Given the description of an element on the screen output the (x, y) to click on. 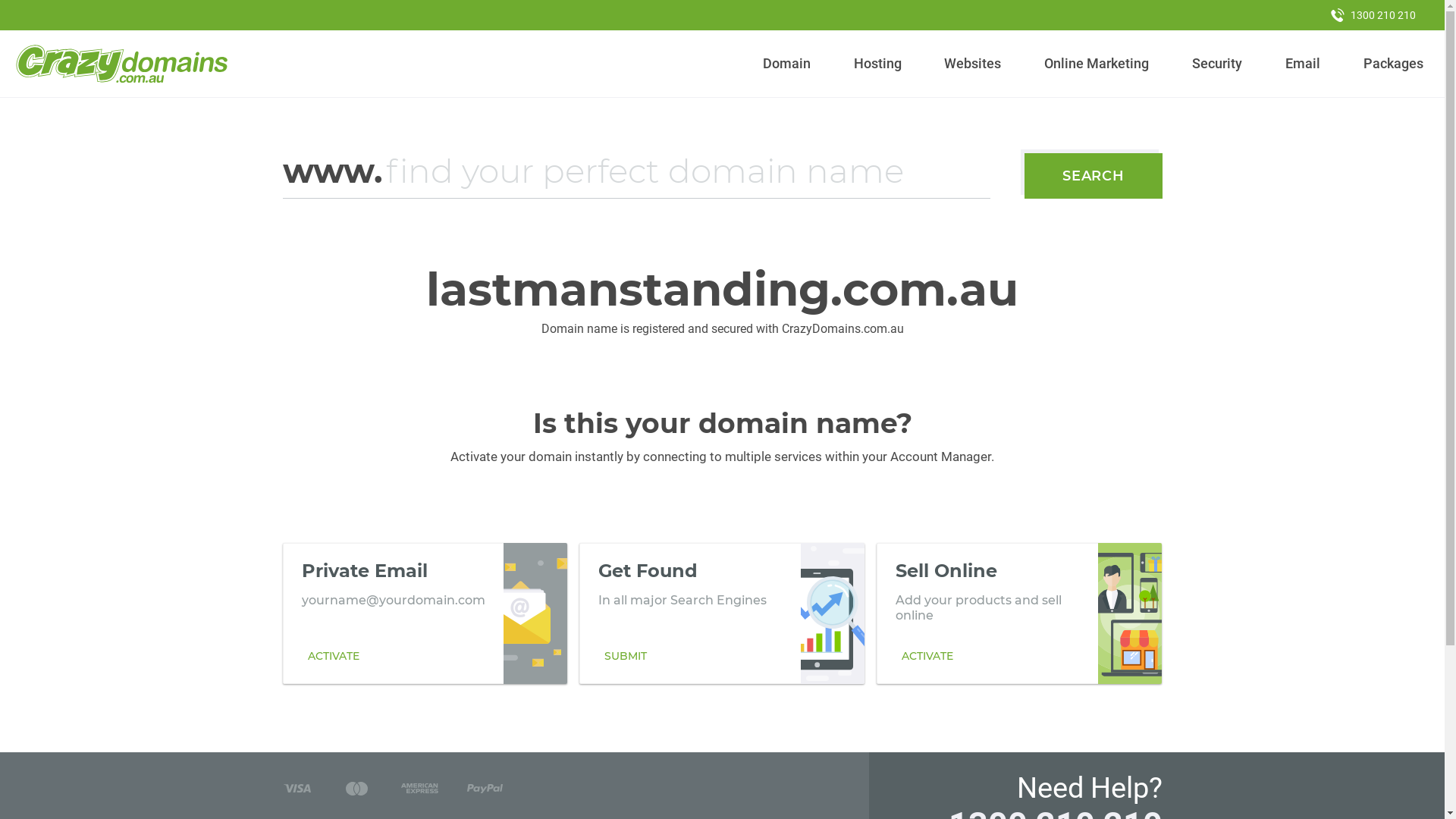
Private Email
yourname@yourdomain.com
ACTIVATE Element type: text (424, 613)
Sell Online
Add your products and sell online
ACTIVATE Element type: text (1018, 613)
Get Found
In all major Search Engines
SUBMIT Element type: text (721, 613)
Domain Element type: text (786, 63)
SEARCH Element type: text (1092, 175)
1300 210 210 Element type: text (1373, 15)
Online Marketing Element type: text (1096, 63)
Hosting Element type: text (877, 63)
Packages Element type: text (1392, 63)
Security Element type: text (1217, 63)
Websites Element type: text (972, 63)
Email Element type: text (1302, 63)
